Given the description of an element on the screen output the (x, y) to click on. 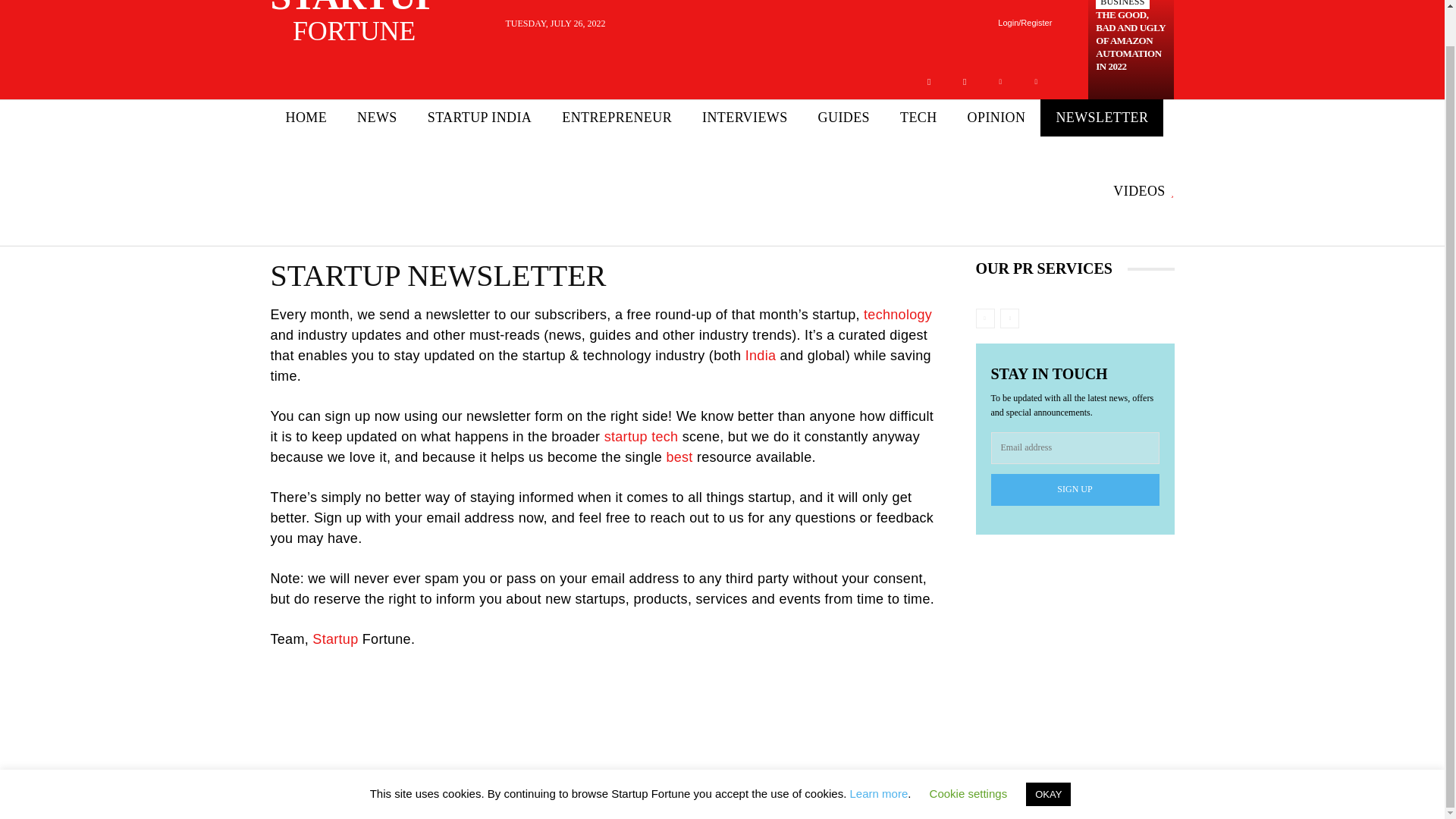
Linkedin (1000, 81)
The Good, Bad and Ugly of Amazon Automation in 2022 (368, 23)
Twitter (1131, 40)
Instagram (1035, 81)
Facebook (964, 81)
